Given the description of an element on the screen output the (x, y) to click on. 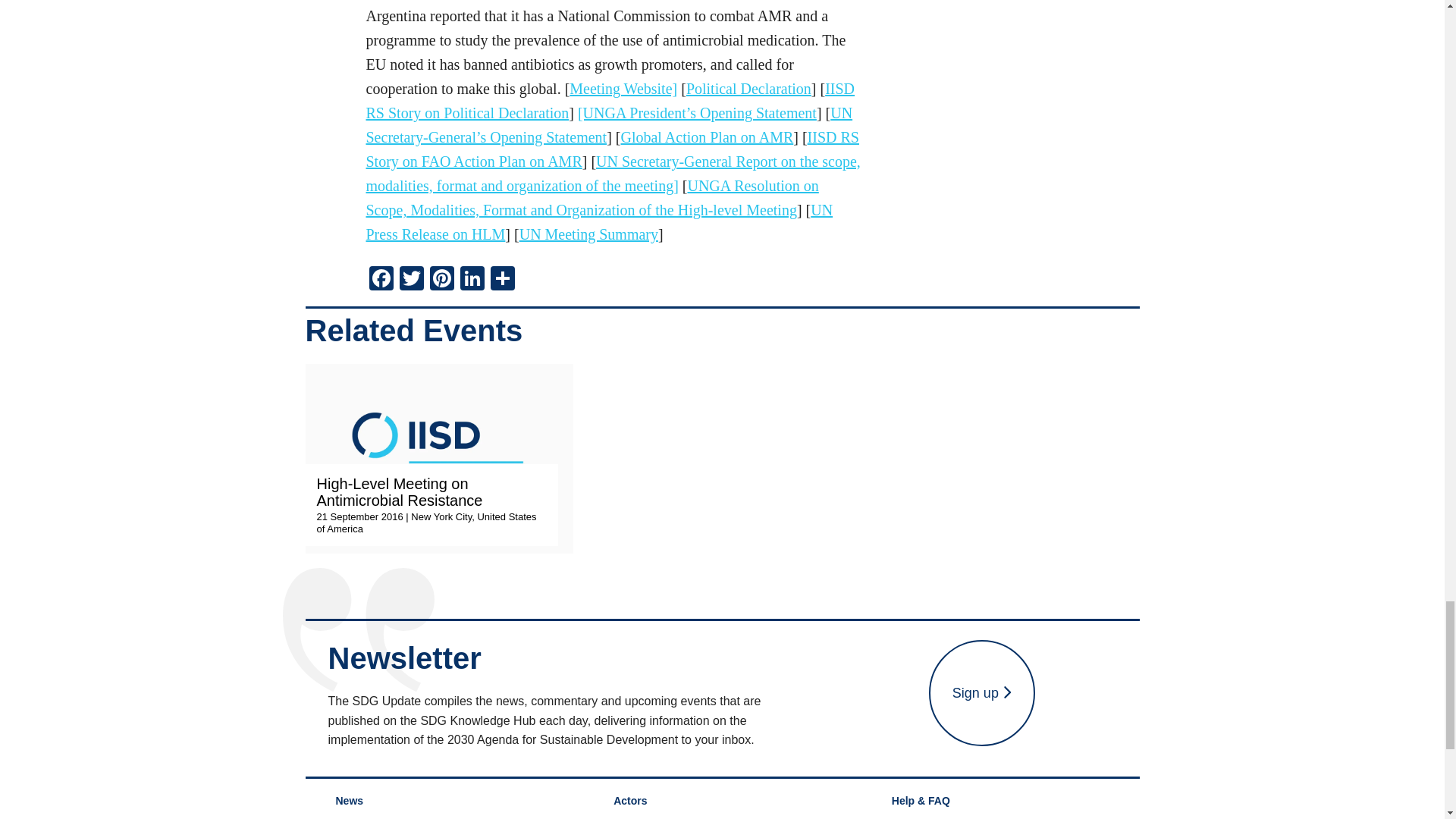
Twitter (411, 280)
Twitter (411, 280)
IISD RS Story on Political Declaration (609, 100)
LinkedIn (471, 280)
Political Declaration (747, 88)
Pinterest (441, 280)
Pinterest (441, 280)
Facebook (380, 280)
LinkedIn (471, 280)
